Given the description of an element on the screen output the (x, y) to click on. 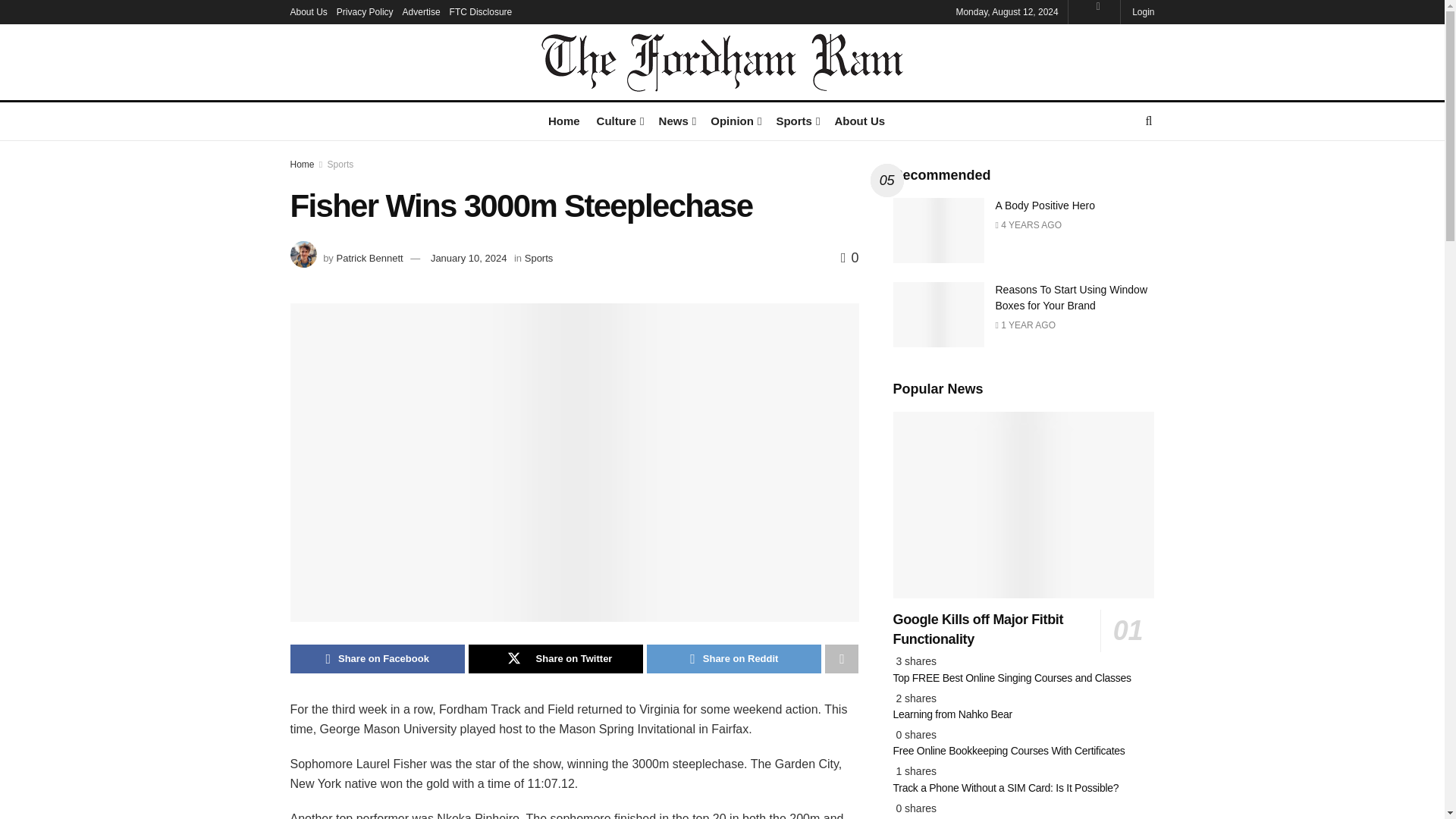
Advertise (422, 12)
Home (563, 120)
Sports (796, 120)
Login (1141, 12)
News (676, 120)
Opinion (734, 120)
Culture (619, 120)
Privacy Policy (364, 12)
About Us (307, 12)
FTC Disclosure (480, 12)
